Given the description of an element on the screen output the (x, y) to click on. 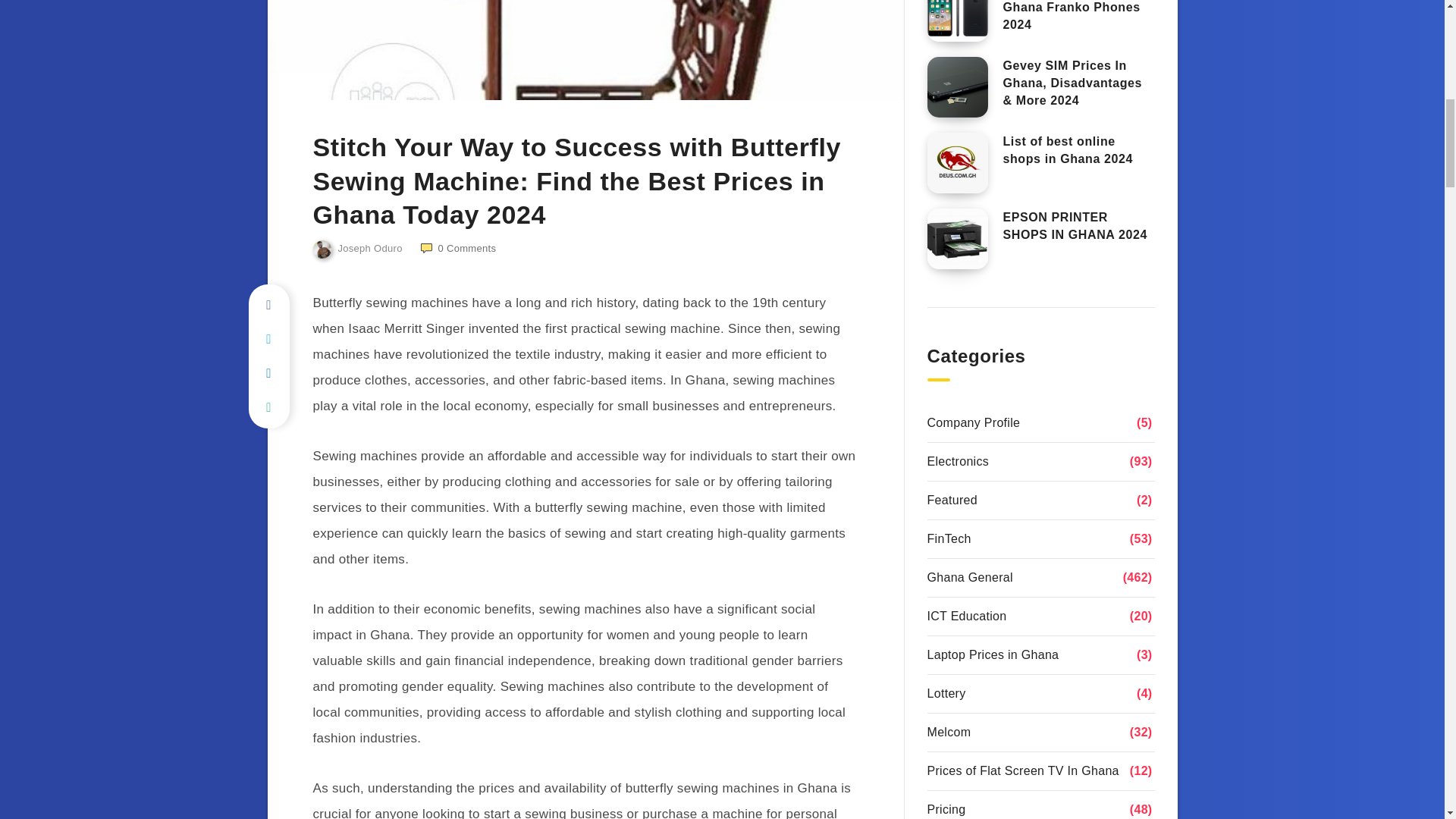
Go to comments (458, 247)
Joseph Oduro (357, 249)
Joseph Oduro (357, 249)
0 Comments (458, 247)
